Given the description of an element on the screen output the (x, y) to click on. 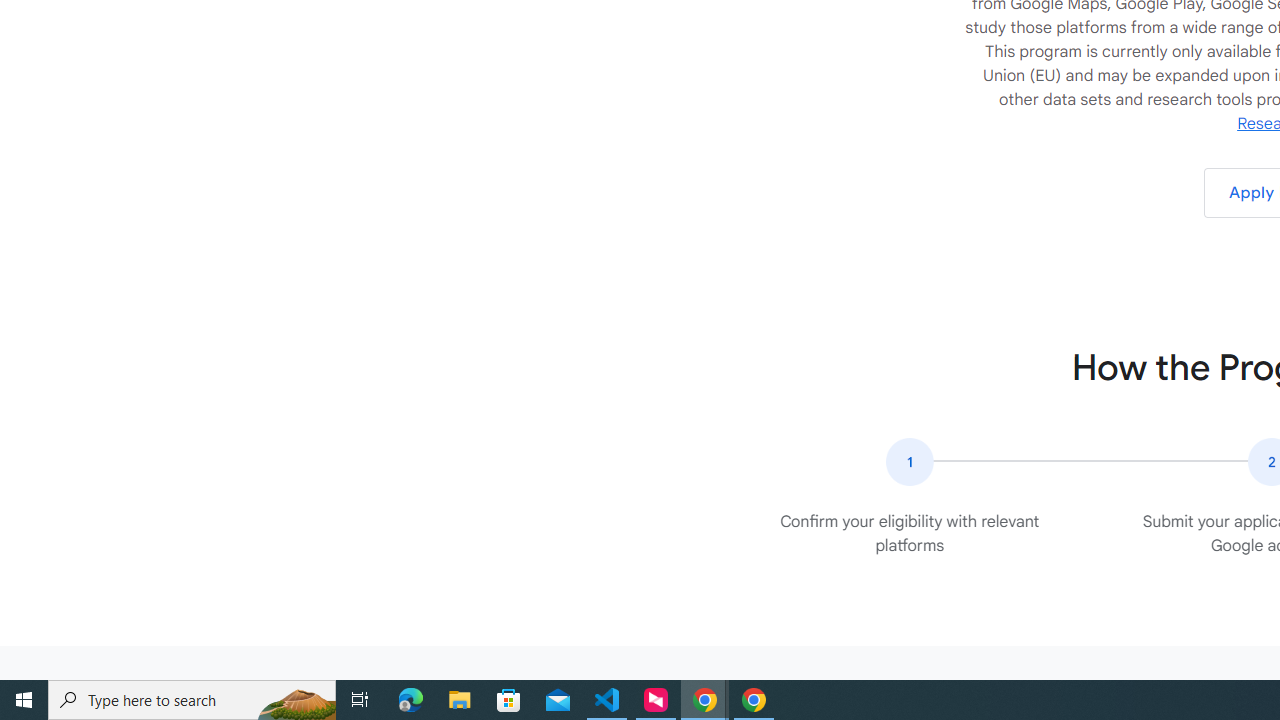
The number one in a circular icon. (909, 461)
